Given the description of an element on the screen output the (x, y) to click on. 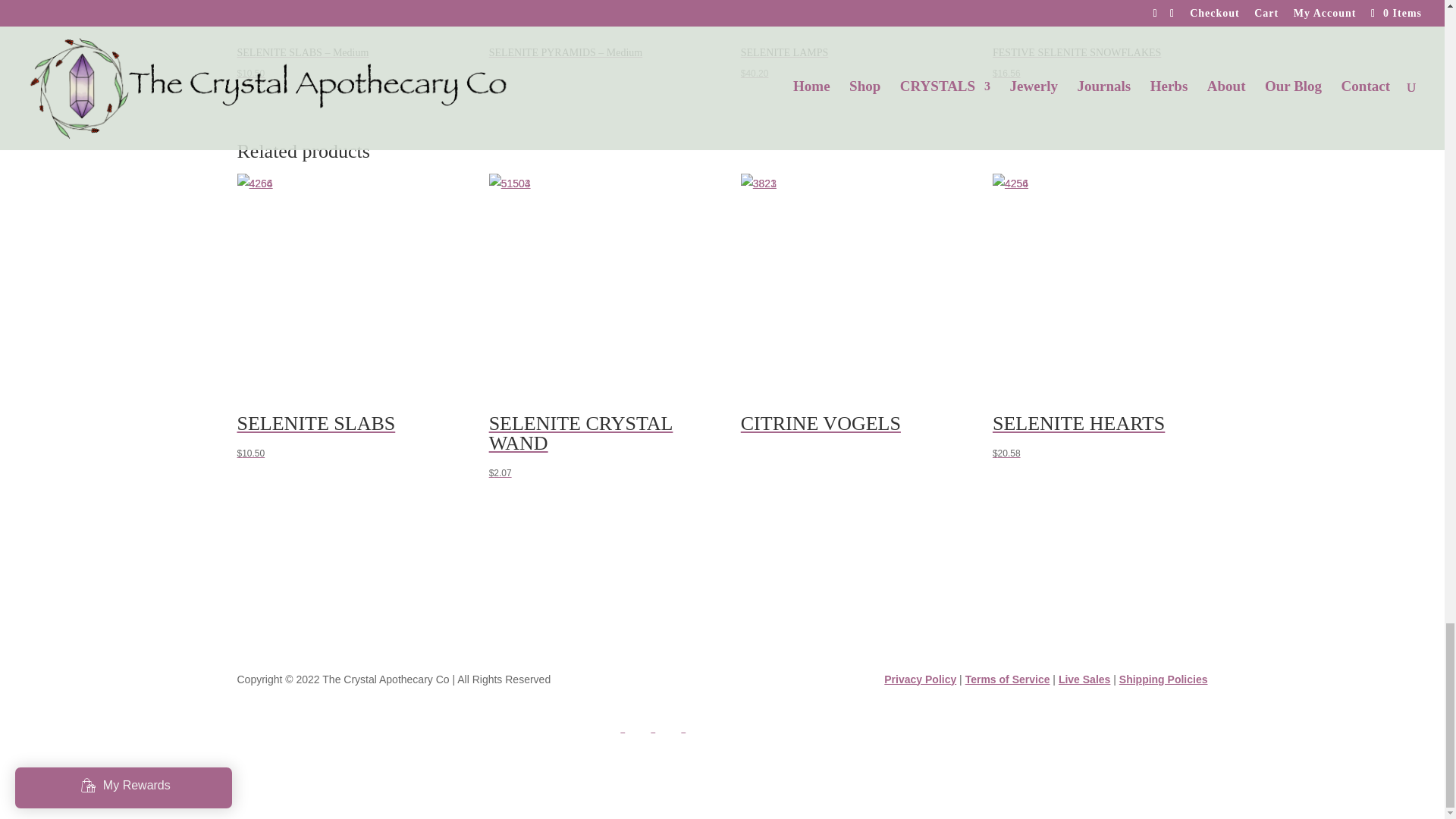
SELENITE SLABS (343, 281)
SELENITE LAMPS (848, 13)
FESTIVE SELENITE SNOWFLAKES (1100, 13)
